Given the description of an element on the screen output the (x, y) to click on. 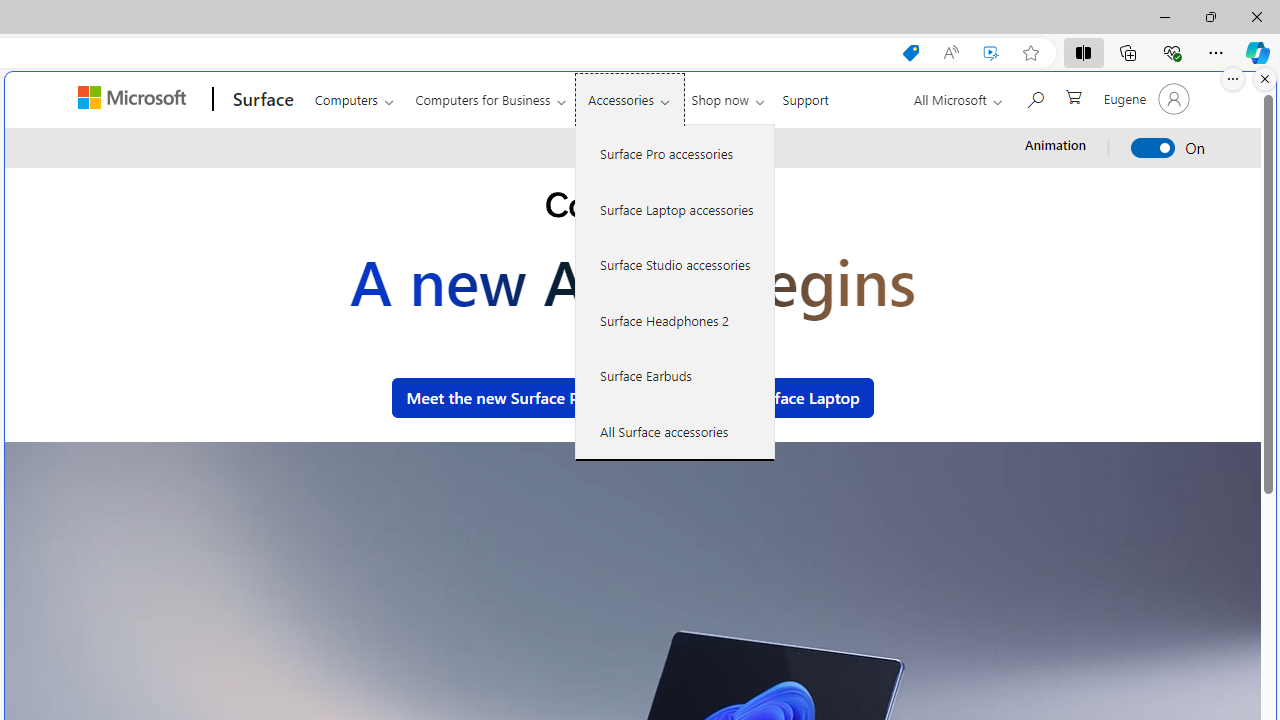
Support (805, 96)
All Surface accessories (675, 431)
Account manager for Eugene (1144, 98)
More options. (1233, 79)
Surface Laptop accessories (675, 208)
Support (805, 96)
Surface Studio accessories (675, 264)
Copilot+ PC. (632, 207)
Surface Studio accessories (675, 264)
0 items in shopping cart (1072, 95)
